Given the description of an element on the screen output the (x, y) to click on. 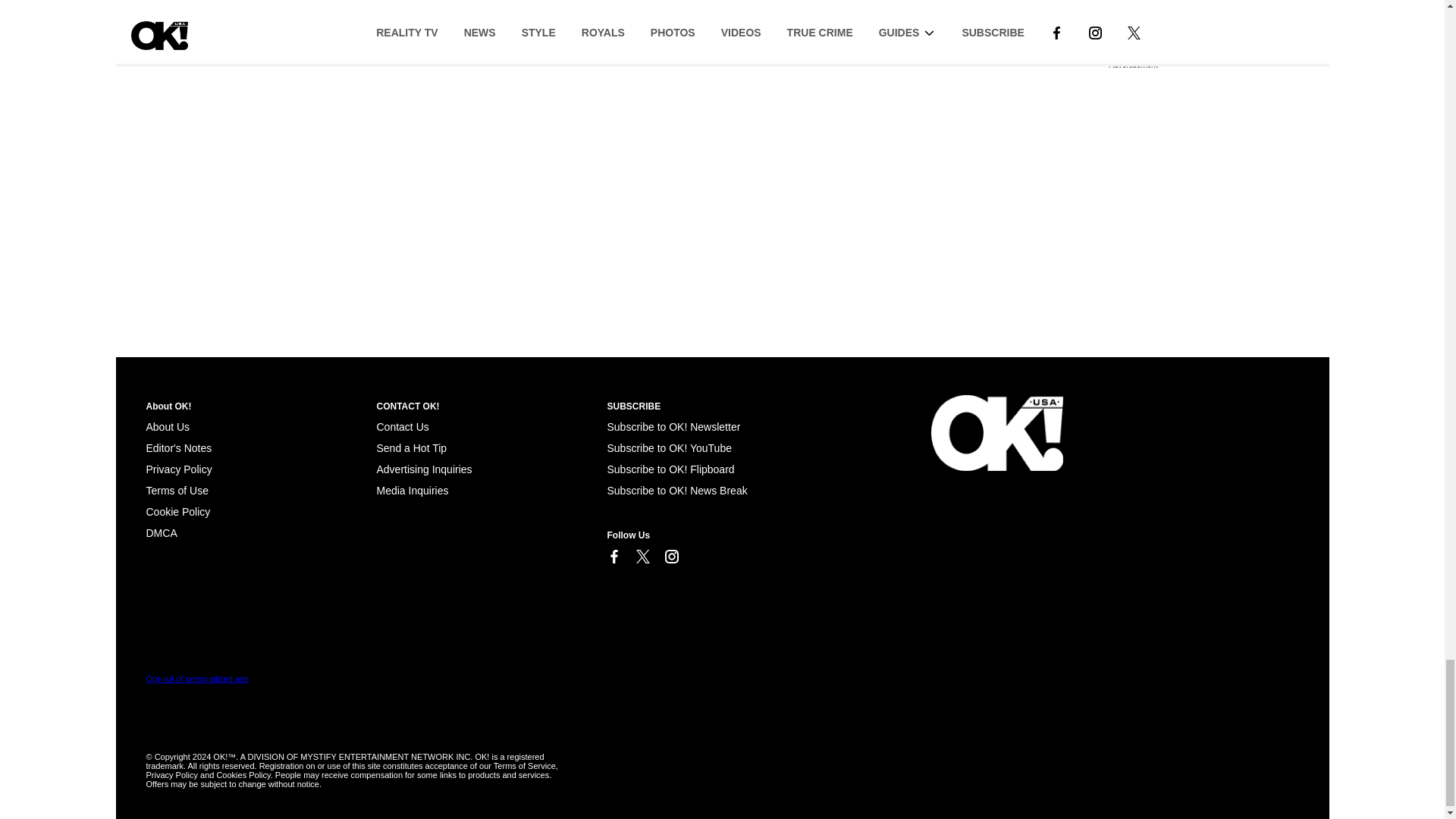
Privacy Policy (178, 469)
Link to Instagram (670, 556)
Cookie Policy (160, 532)
Send a Hot Tip (410, 448)
Link to Facebook (613, 556)
Link to X (641, 556)
Cookie Policy (177, 511)
About Us (167, 426)
Editor's Notes (178, 448)
Contact Us (401, 426)
